Given the description of an element on the screen output the (x, y) to click on. 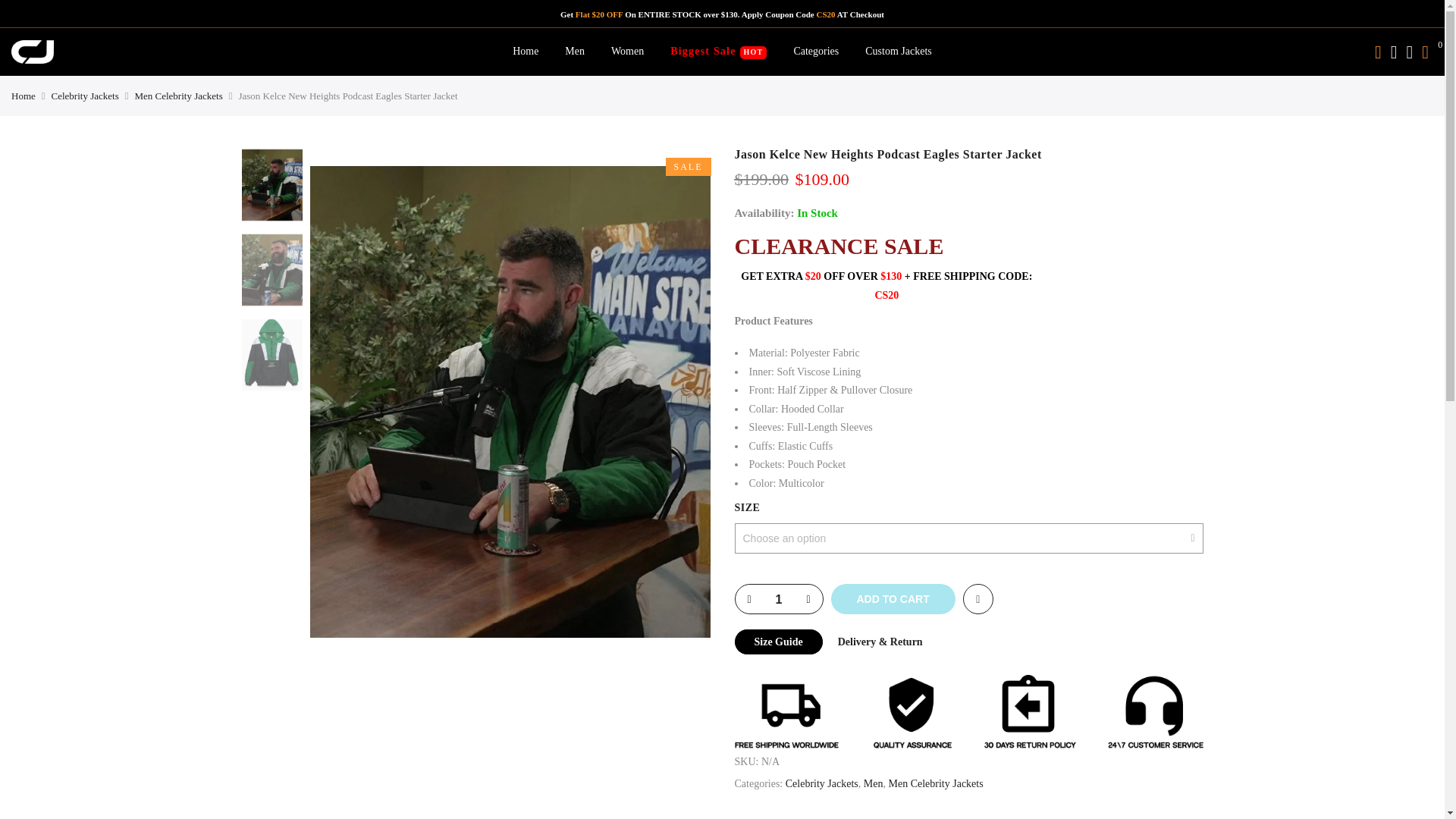
View your Wishlist (1408, 51)
Women (627, 50)
Search (1378, 51)
Men (574, 50)
Biggest Sale (718, 50)
Categories (815, 50)
Home (525, 50)
Jason Kelce New Heights Podcast Eagles Starter Jacket (271, 184)
Qty (778, 599)
1 (778, 599)
View your shopping cart (1425, 51)
